Given the description of an element on the screen output the (x, y) to click on. 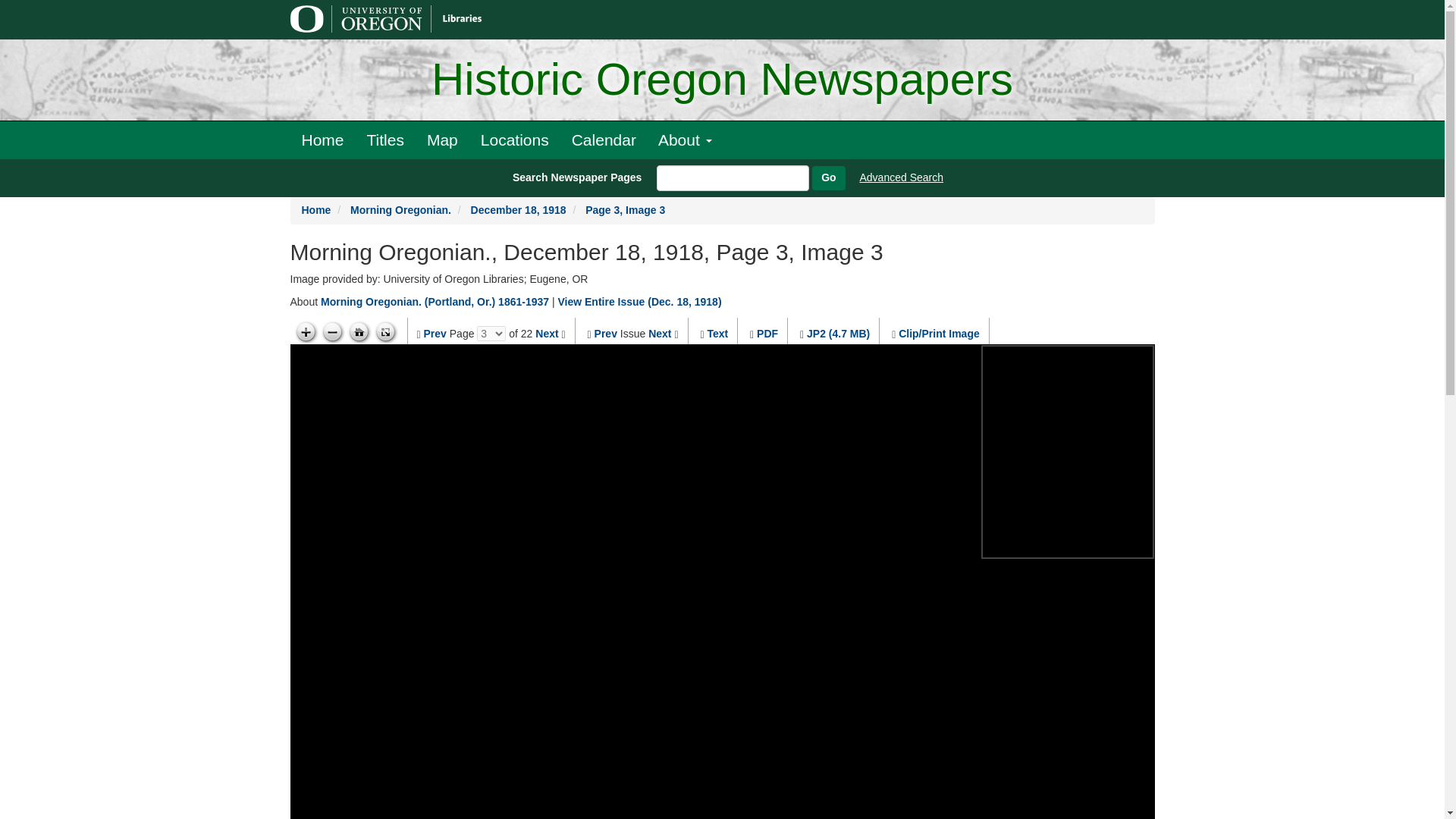
Next (546, 333)
Prev (434, 333)
Locations (514, 139)
Page 3, Image 3 (625, 209)
Go (828, 178)
Zoom in (305, 332)
Prev (605, 333)
Toggle full page (385, 332)
Calendar (603, 139)
Text (717, 333)
Morning Oregonian. (400, 209)
Home (316, 209)
December 18, 1918 (518, 209)
Zoom out (332, 332)
Map (441, 139)
